Given the description of an element on the screen output the (x, y) to click on. 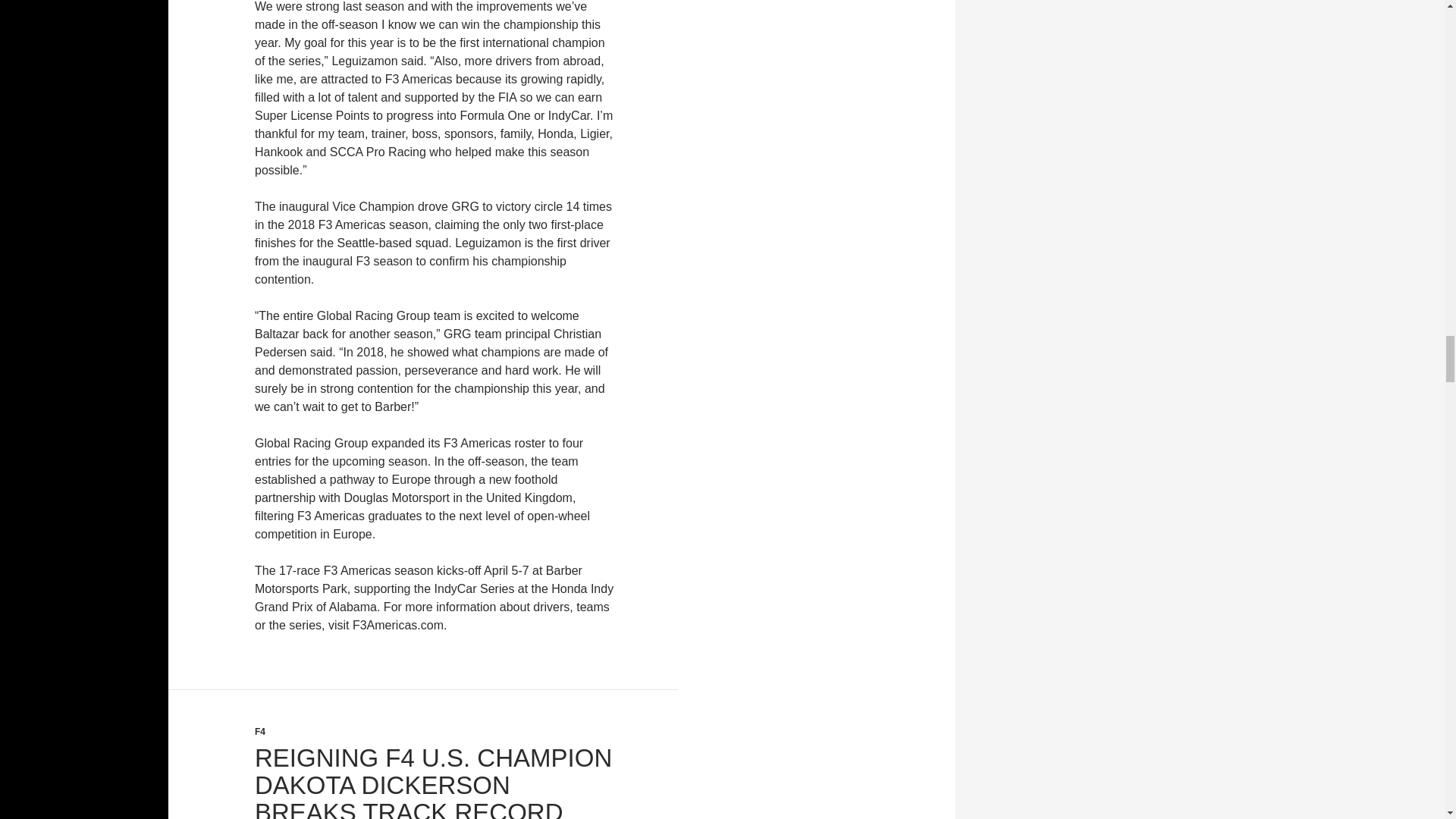
F4 (259, 731)
